Given the description of an element on the screen output the (x, y) to click on. 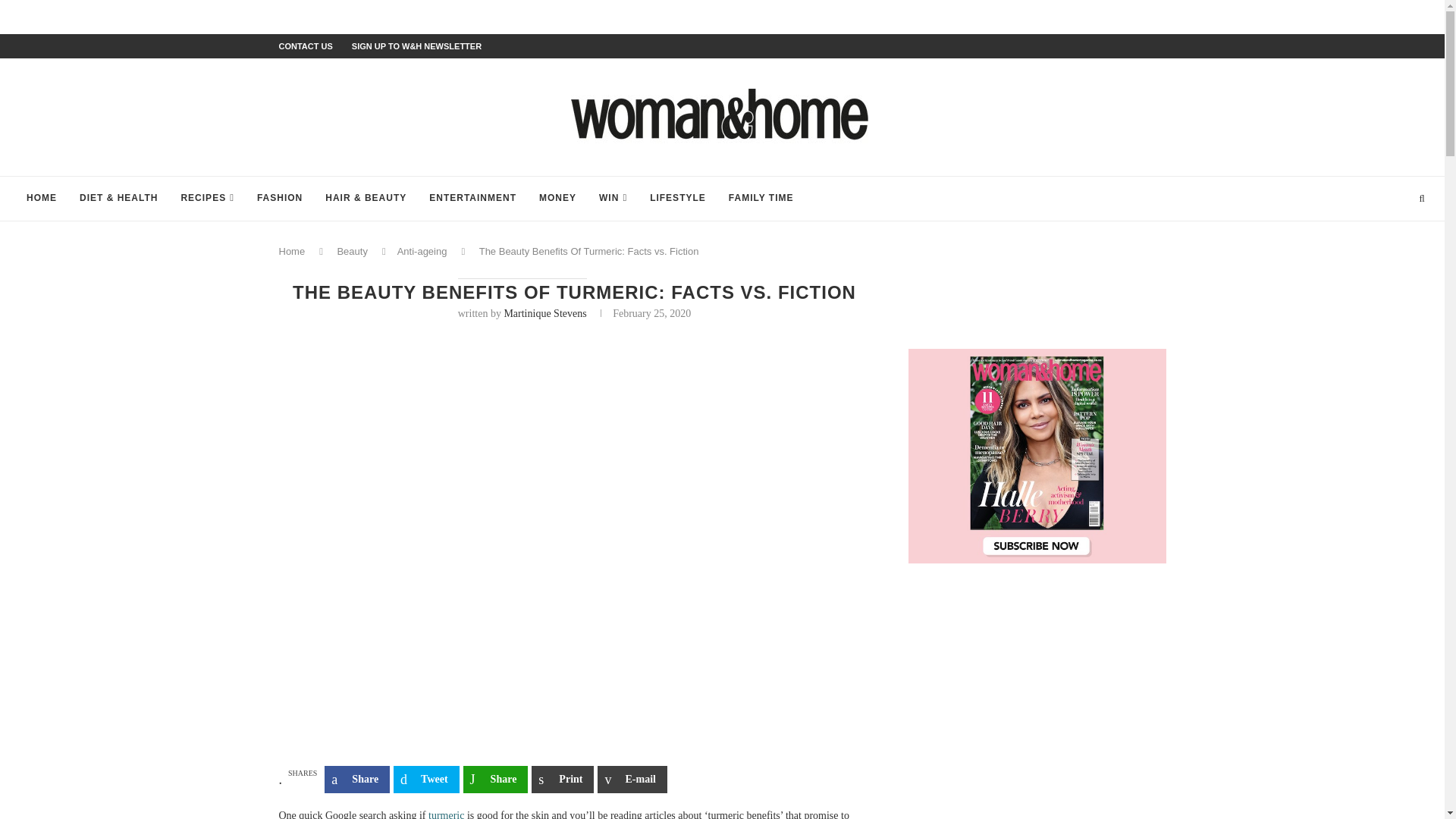
Share on Share (495, 779)
ENTERTAINMENT (472, 198)
Tweet (426, 779)
Anti-ageing (421, 251)
Martinique Stevens (544, 313)
FASHION (280, 198)
Share on Print (562, 779)
MONEY (557, 198)
Share on Tweet (426, 779)
Home (292, 251)
